Given the description of an element on the screen output the (x, y) to click on. 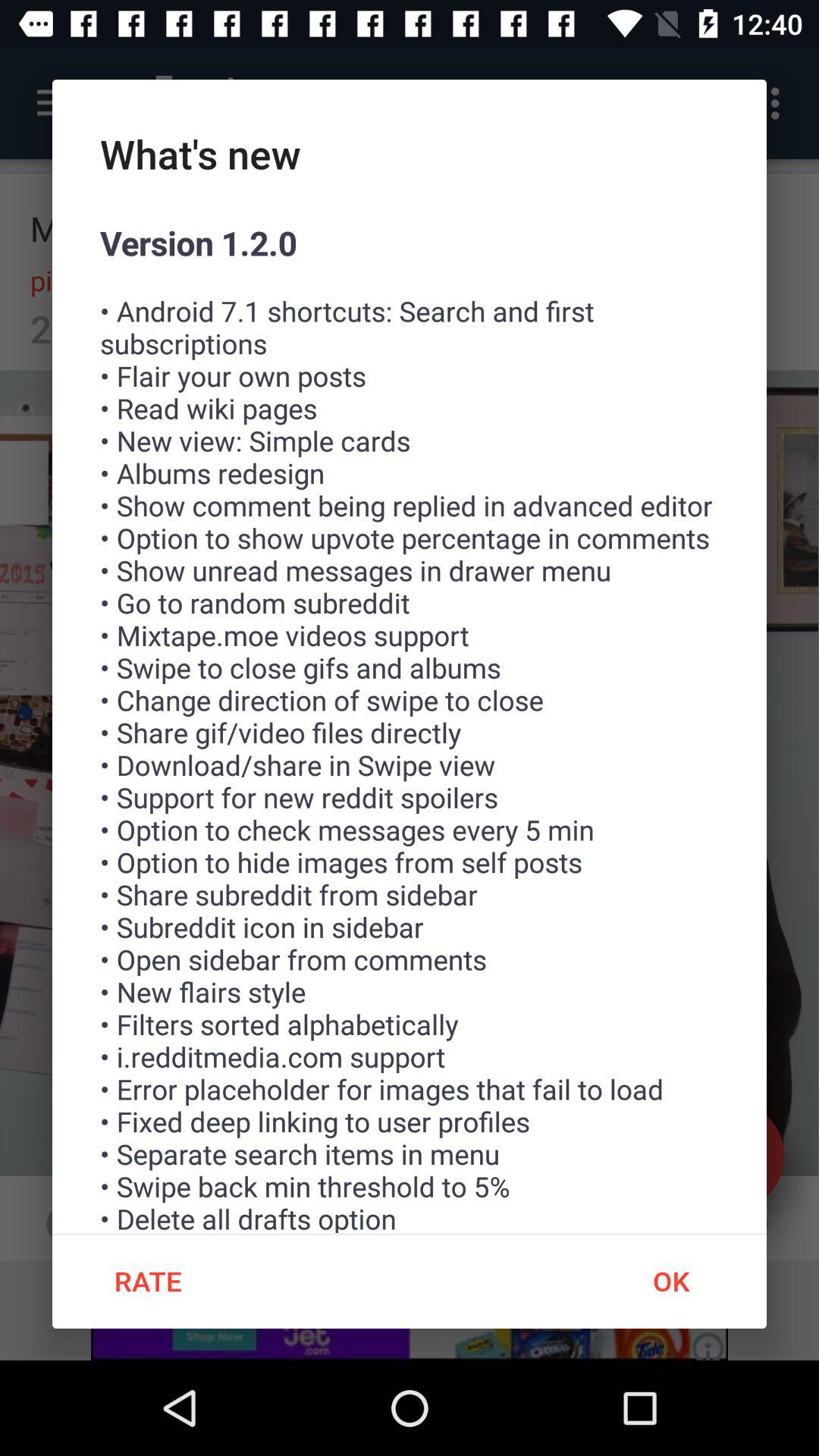
select icon at the center (409, 726)
